Given the description of an element on the screen output the (x, y) to click on. 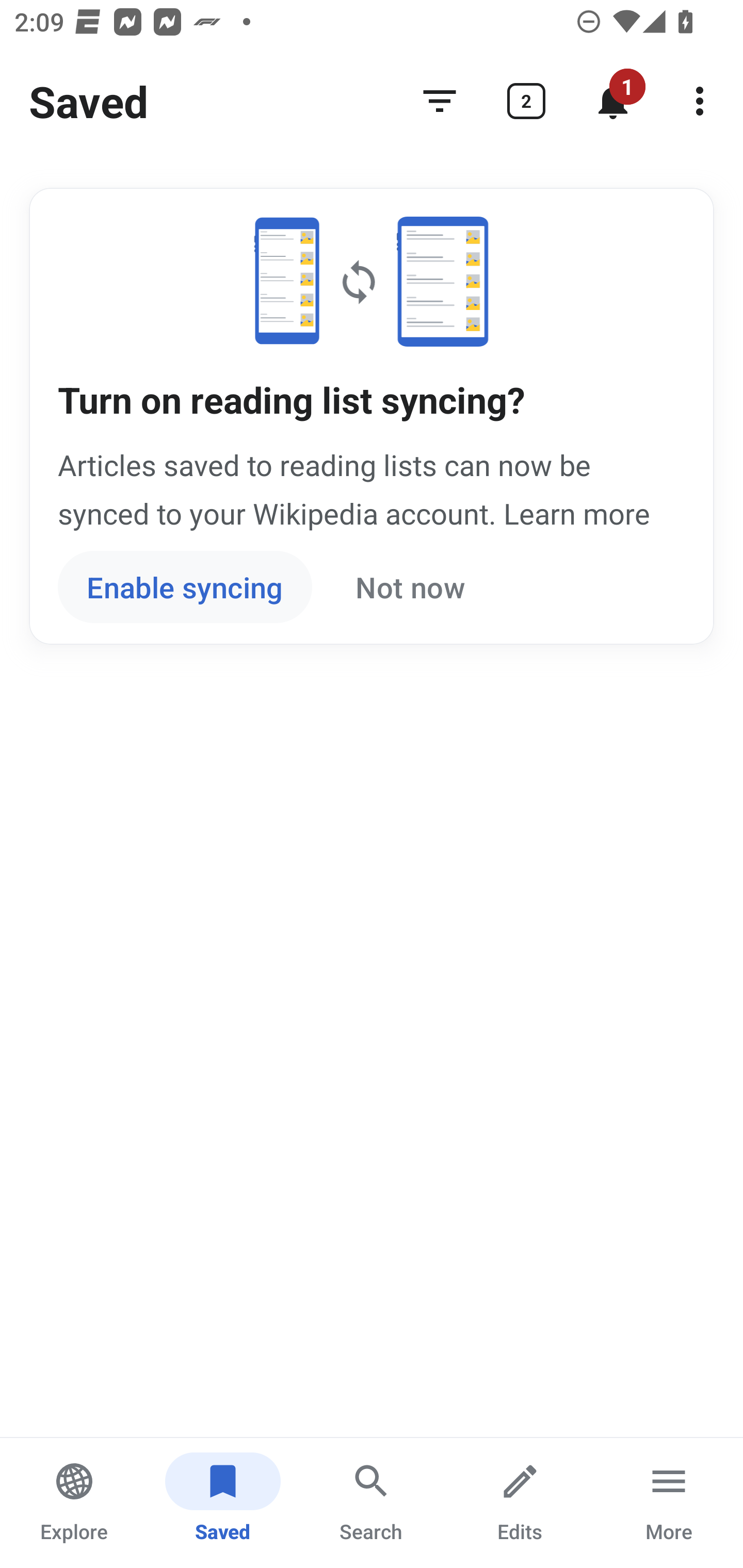
Show tabs 2 (525, 101)
Notifications 1 (612, 101)
Filter my lists (439, 101)
More options (699, 101)
Enable syncing (184, 587)
Not now (410, 587)
Explore (74, 1502)
Search (371, 1502)
Edits (519, 1502)
More (668, 1502)
